Given the description of an element on the screen output the (x, y) to click on. 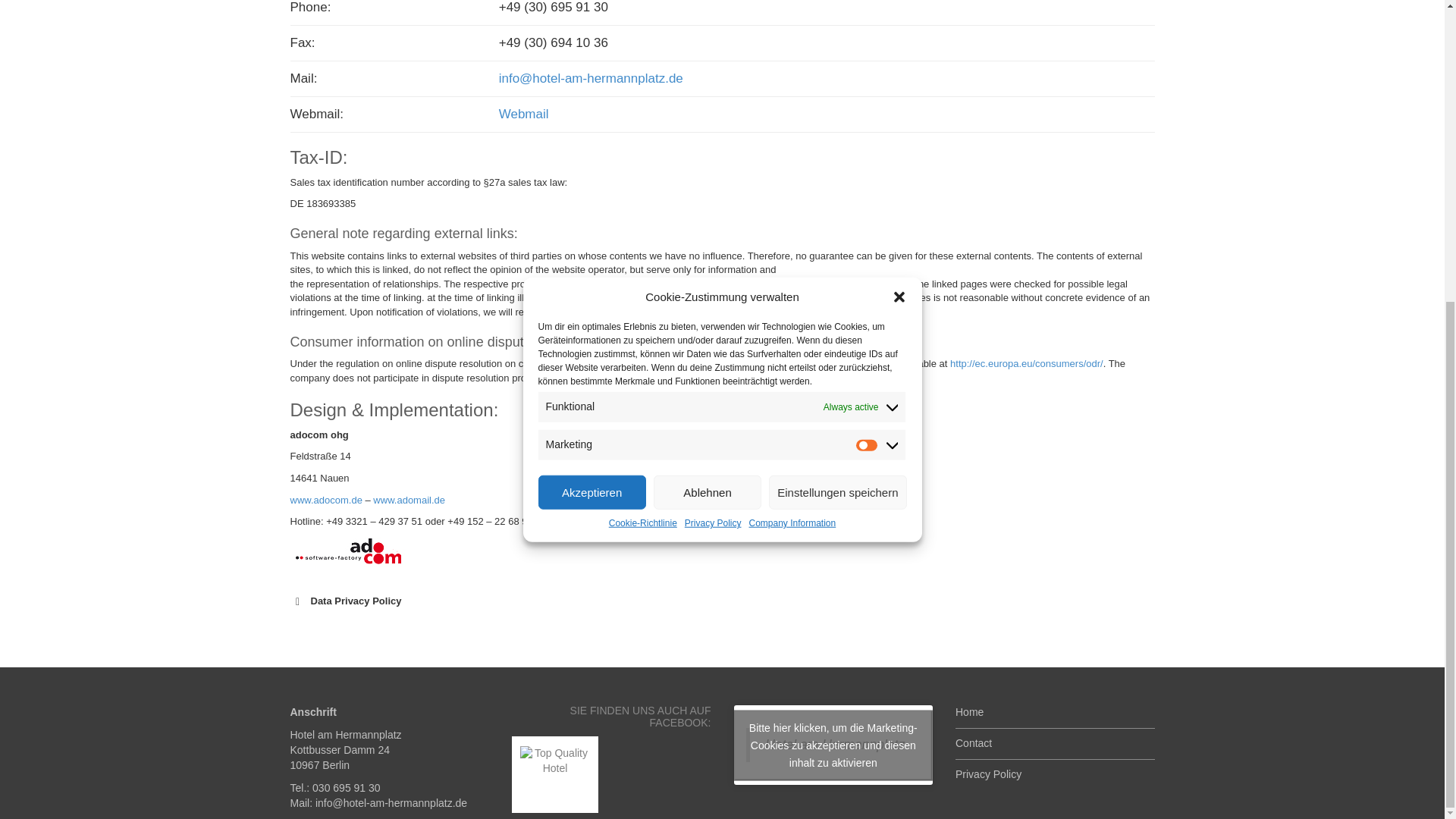
Besuchen Sie die Homepage von adocom (348, 552)
www.adocom.de (408, 500)
Akzeptieren (592, 424)
www.adocom.de (325, 500)
Ablehnen (707, 383)
Privacy Policy (712, 226)
Einstellungen speichern (836, 305)
www.adocom.de (325, 500)
www.adomail.de (408, 500)
Cookie-Richtlinie (642, 253)
